Given the description of an element on the screen output the (x, y) to click on. 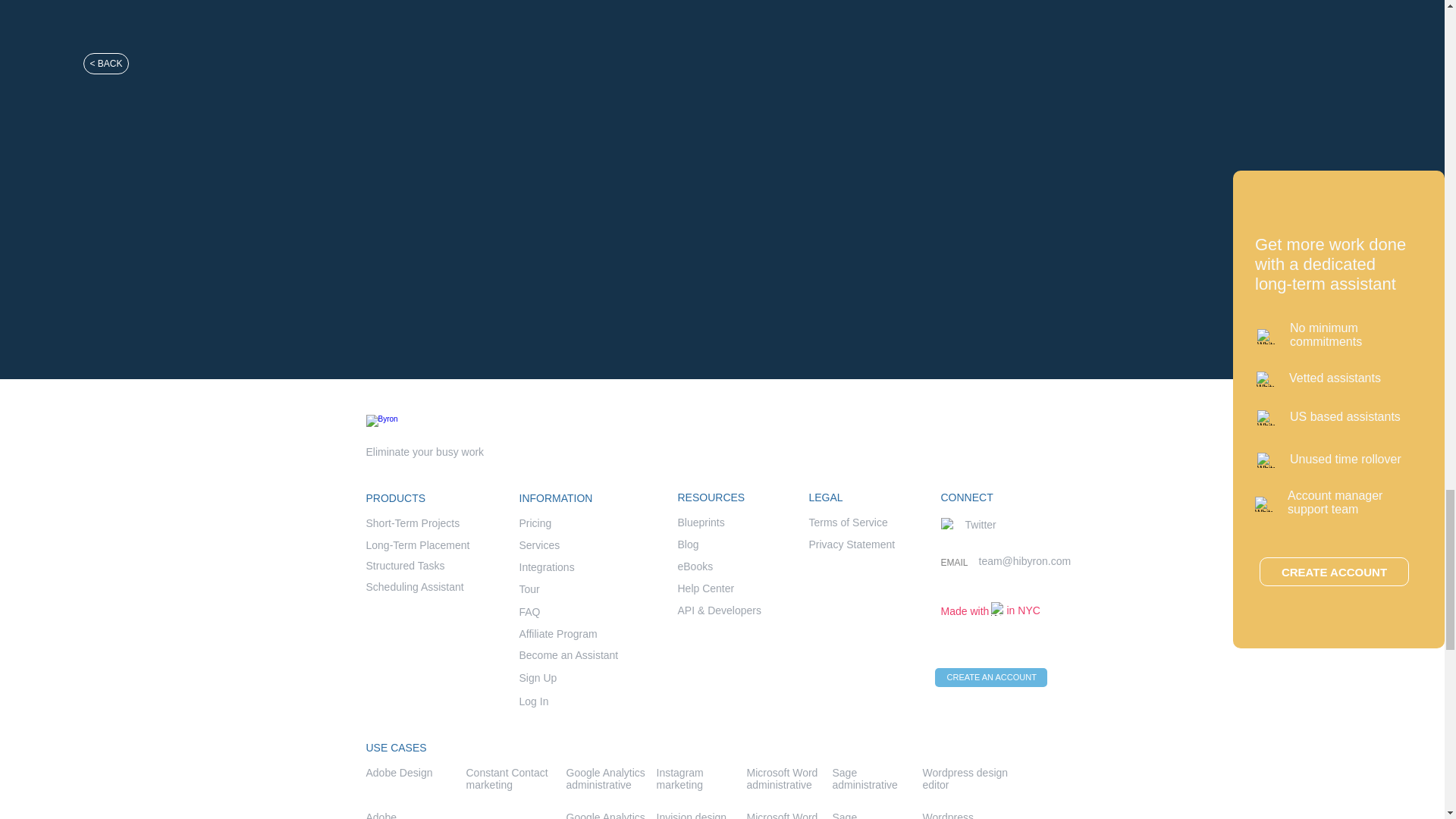
Pricing (534, 522)
Constant Contact marketing (506, 778)
Blog (688, 544)
Invision design editor (691, 815)
Blueprints (701, 522)
Become an Assistant (567, 654)
Instagram marketing (679, 778)
Services (538, 544)
Twitter (979, 524)
Tour (528, 589)
